Given the description of an element on the screen output the (x, y) to click on. 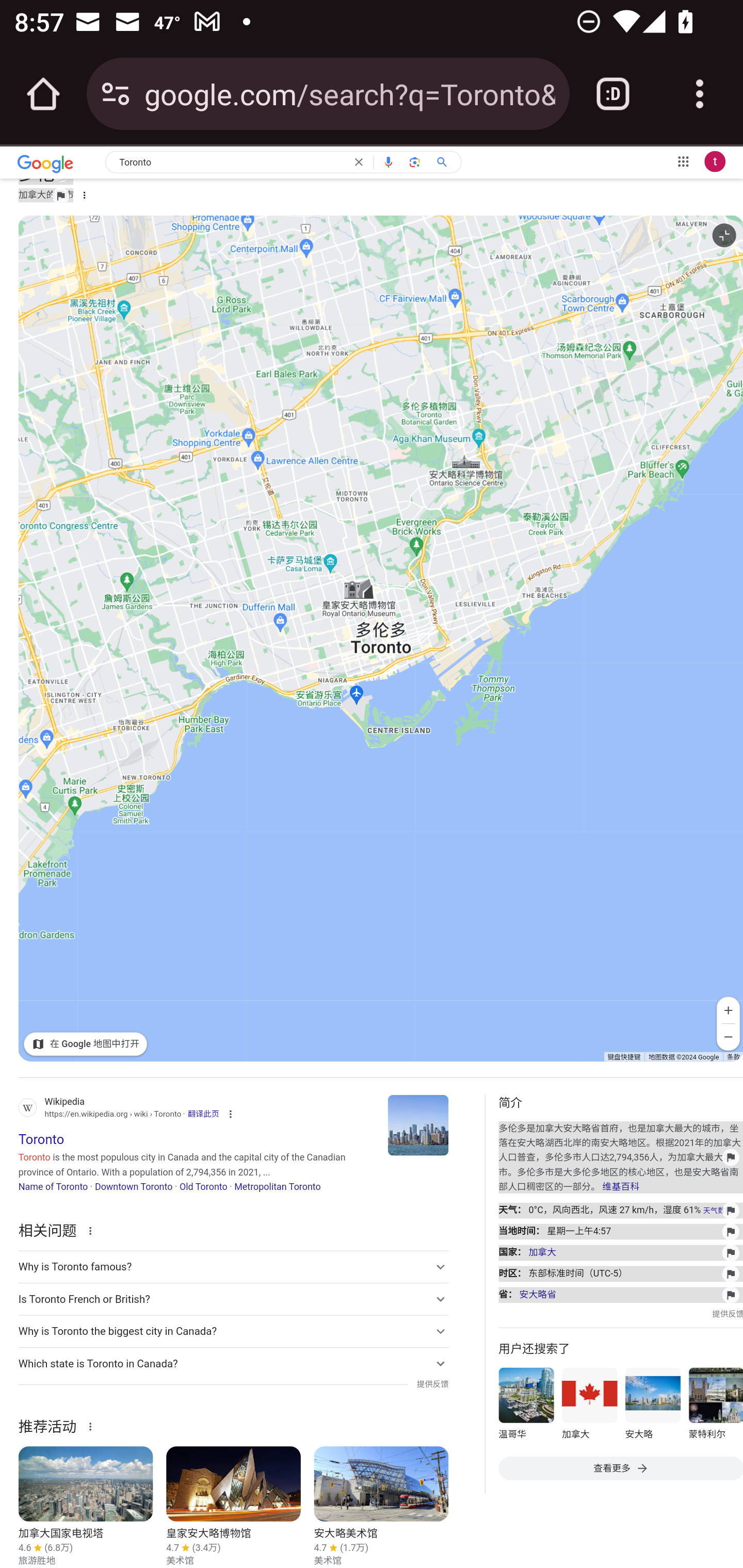
Open the home page (43, 93)
Connection is secure (115, 93)
Switch or close tabs (612, 93)
Customize and control Google Chrome (699, 93)
Google 应用 (682, 161)
Google 账号： test appium (testappium002@gmail.com) (714, 161)
清除 (358, 163)
按语音搜索 (388, 163)
按图搜索 (415, 163)
搜索 (445, 163)
Google (45, 165)
Toronto (231, 164)
更多选项 (84, 195)
收起地图 (723, 234)
放大 (728, 1010)
缩小 (728, 1036)
在 Google 地图中打开 (85, 1043)
Toronto (417, 1125)
翻译此页 (203, 1114)
报告对以下内容的反馈: 简介 (620, 1157)
Name of Toronto (52, 1186)
Downtown Toronto (132, 1186)
Old Toronto (203, 1186)
Metropolitan Toronto (277, 1186)
维基百科 (620, 1186)
报告对以下内容的反馈: 简介 (620, 1210)
关于这条结果的详细信息 (93, 1230)
报告对以下内容的反馈: 简介 (620, 1231)
报告对以下内容的反馈: 简介 (620, 1252)
Why is Toronto famous? (232, 1266)
报告对以下内容的反馈: 简介 (620, 1273)
Is Toronto French or British? (232, 1298)
报告对以下内容的反馈: 简介 (620, 1295)
提供反馈 (727, 1314)
Why is Toronto the biggest city in Canada? (232, 1331)
Which state is Toronto in Canada? (232, 1363)
温哥华 (526, 1406)
加拿大 (588, 1406)
安大略 (652, 1406)
蒙特利尔 (715, 1406)
提供反馈 (432, 1384)
关于这条结果的详细信息 (93, 1426)
查看更多 查看更多 查看更多 (620, 1468)
